Given the description of an element on the screen output the (x, y) to click on. 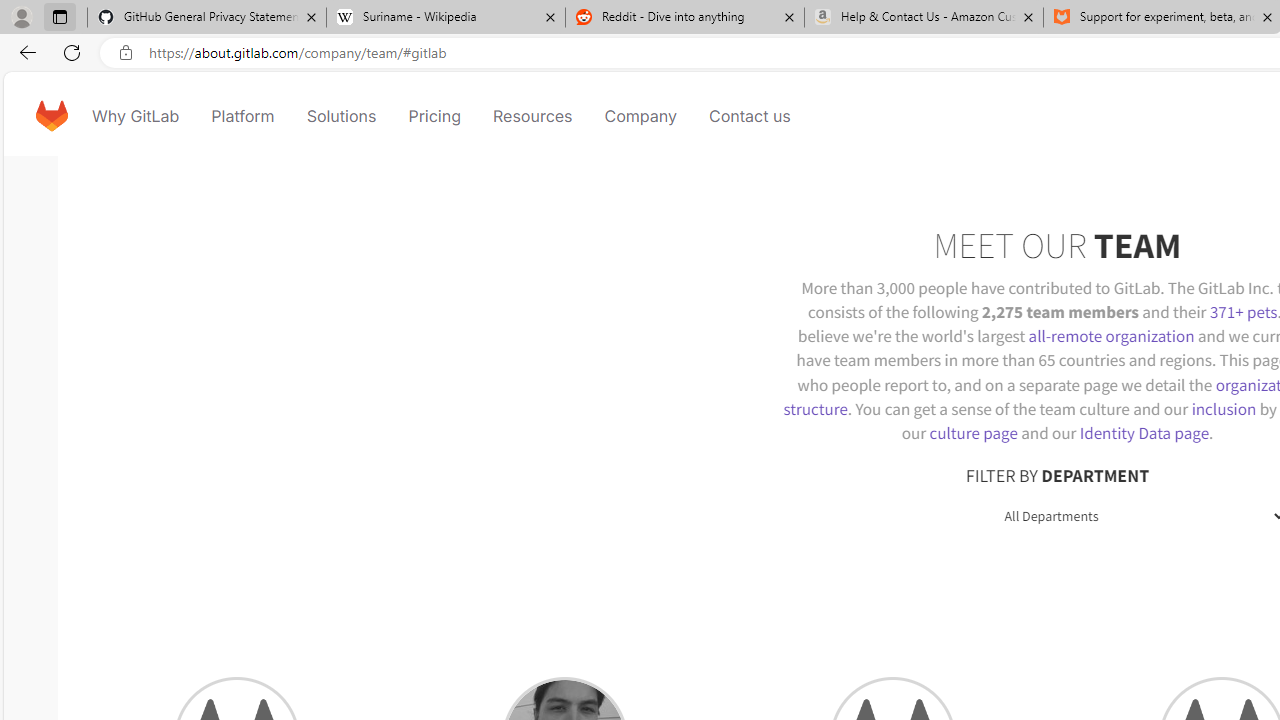
Why GitLab (136, 115)
Pricing (433, 115)
all-remote organization (1111, 335)
Solutions (341, 115)
Contact us (749, 115)
Resources (532, 115)
Solutions (341, 115)
Company (640, 115)
Reddit - Dive into anything (684, 17)
Identity Data page (1144, 432)
Platform (242, 115)
Resources (532, 115)
